Given the description of an element on the screen output the (x, y) to click on. 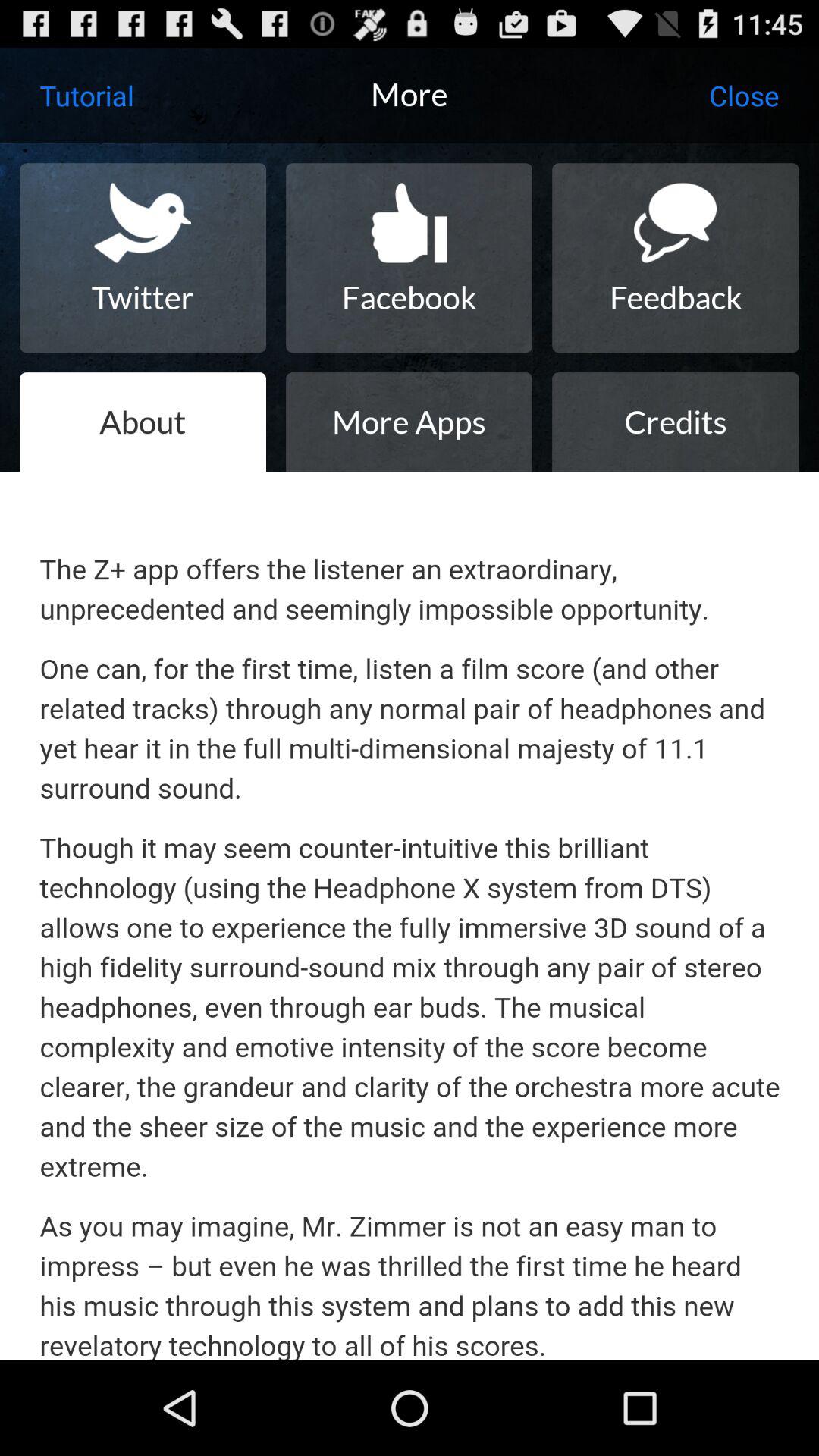
swipe until the more apps icon (409, 422)
